Given the description of an element on the screen output the (x, y) to click on. 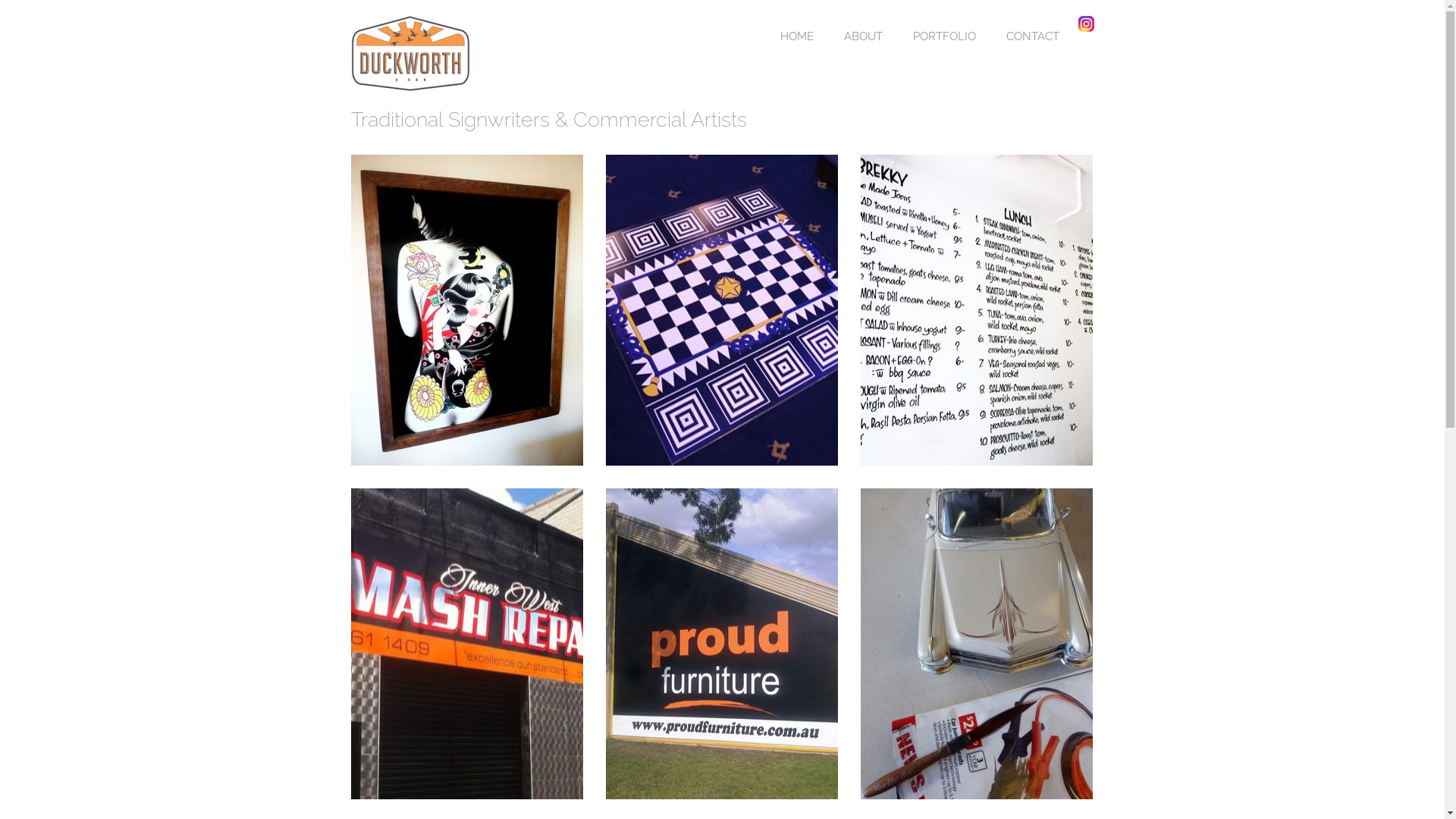
ABOUT Element type: text (863, 36)
PORTFOLIO Element type: text (943, 36)
HOME Element type: text (796, 36)
CONTACT Element type: text (1032, 36)
